Given the description of an element on the screen output the (x, y) to click on. 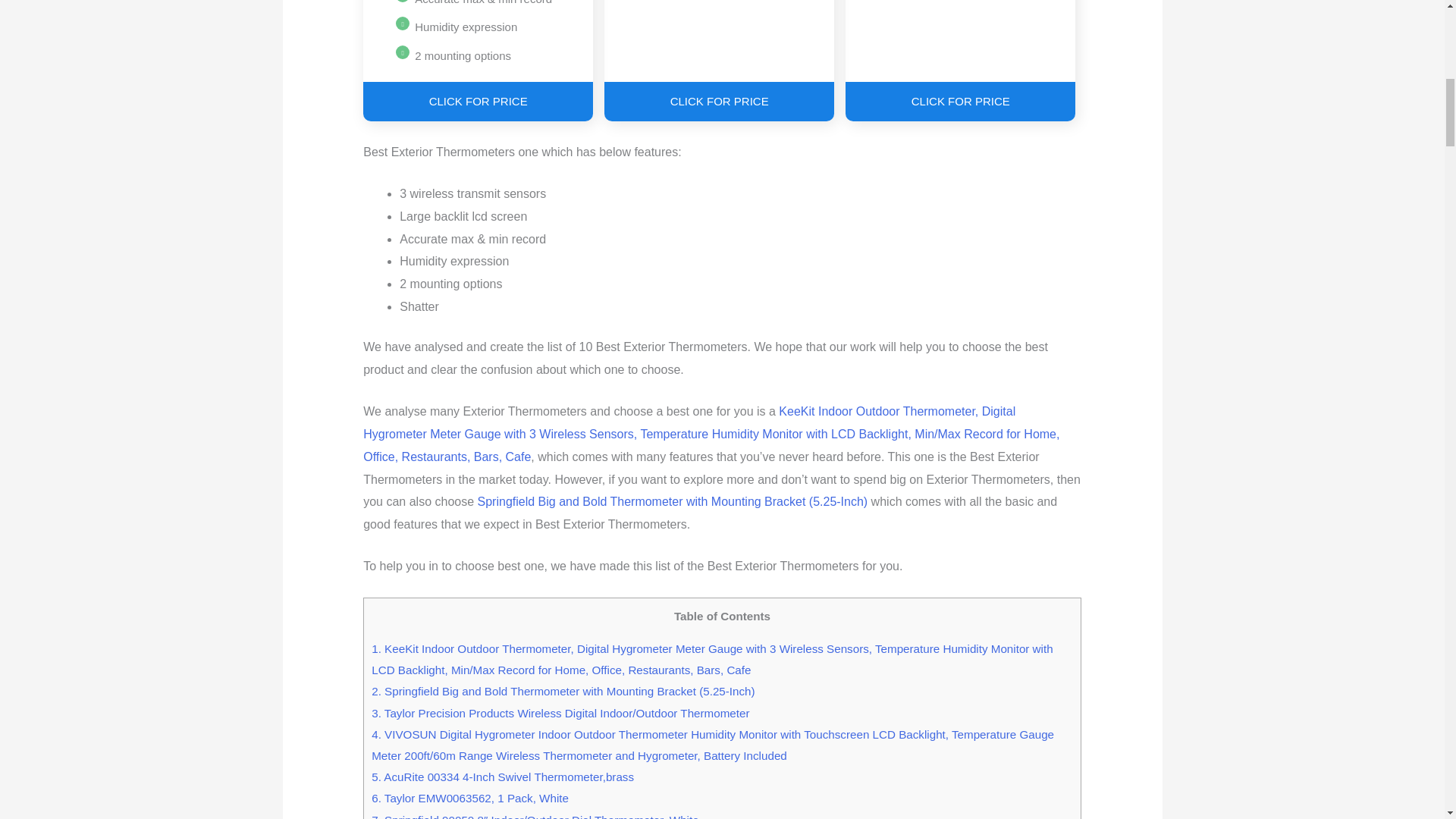
6. Taylor EMW0063562, 1 Pack, White (470, 797)
CLICK FOR PRICE (960, 101)
5. AcuRite 00334 4-Inch Swivel Thermometer,brass (502, 776)
CLICK FOR PRICE (477, 101)
CLICK FOR PRICE (719, 101)
